Given the description of an element on the screen output the (x, y) to click on. 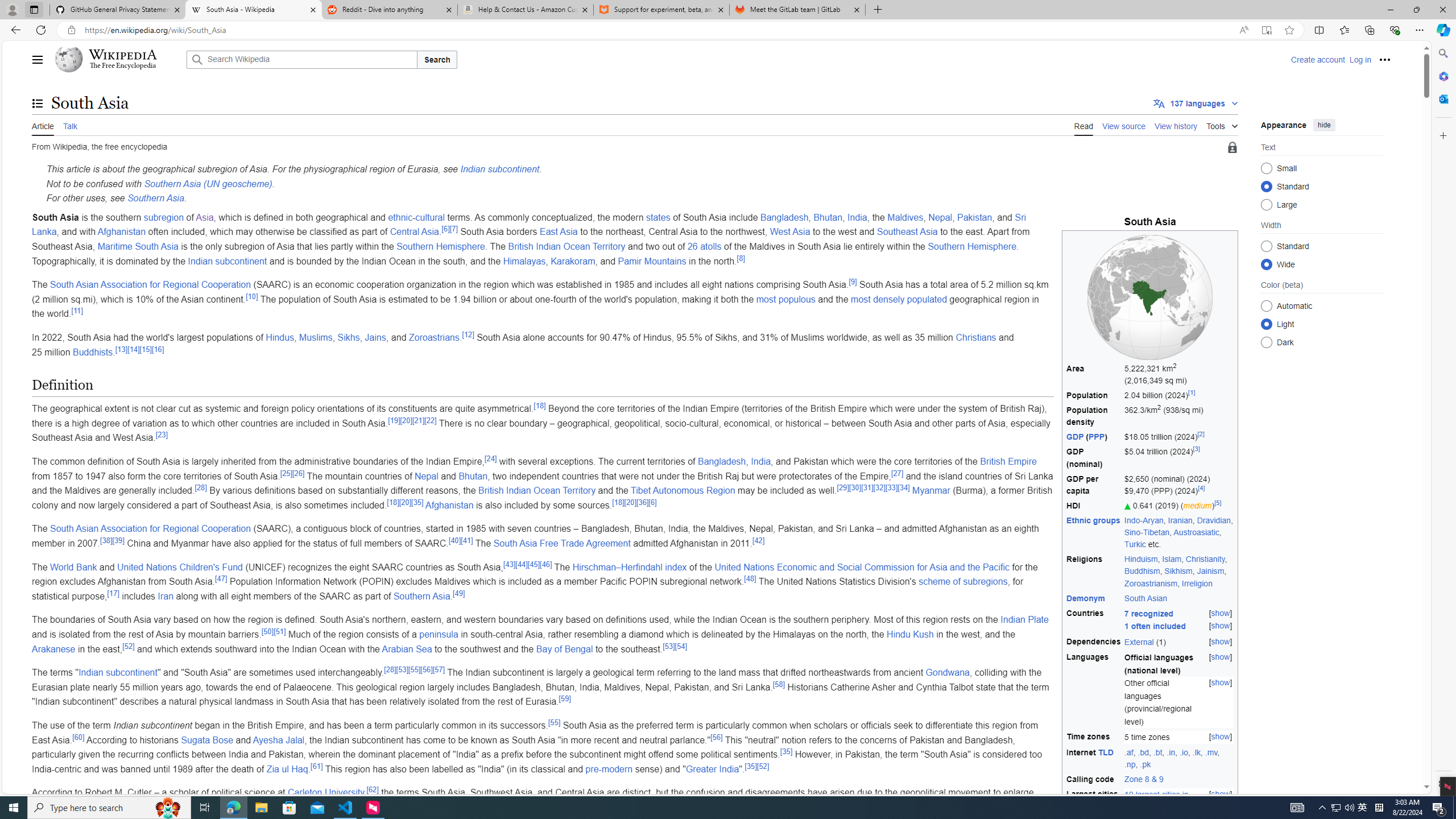
[62] (372, 788)
7 recognized (1148, 613)
cultural (429, 217)
United Nations Children's Fund (179, 566)
[29] (842, 487)
[14] (133, 348)
most densely populated (898, 299)
Automatic (1266, 305)
[56] (716, 737)
[60] (78, 737)
